Given the description of an element on the screen output the (x, y) to click on. 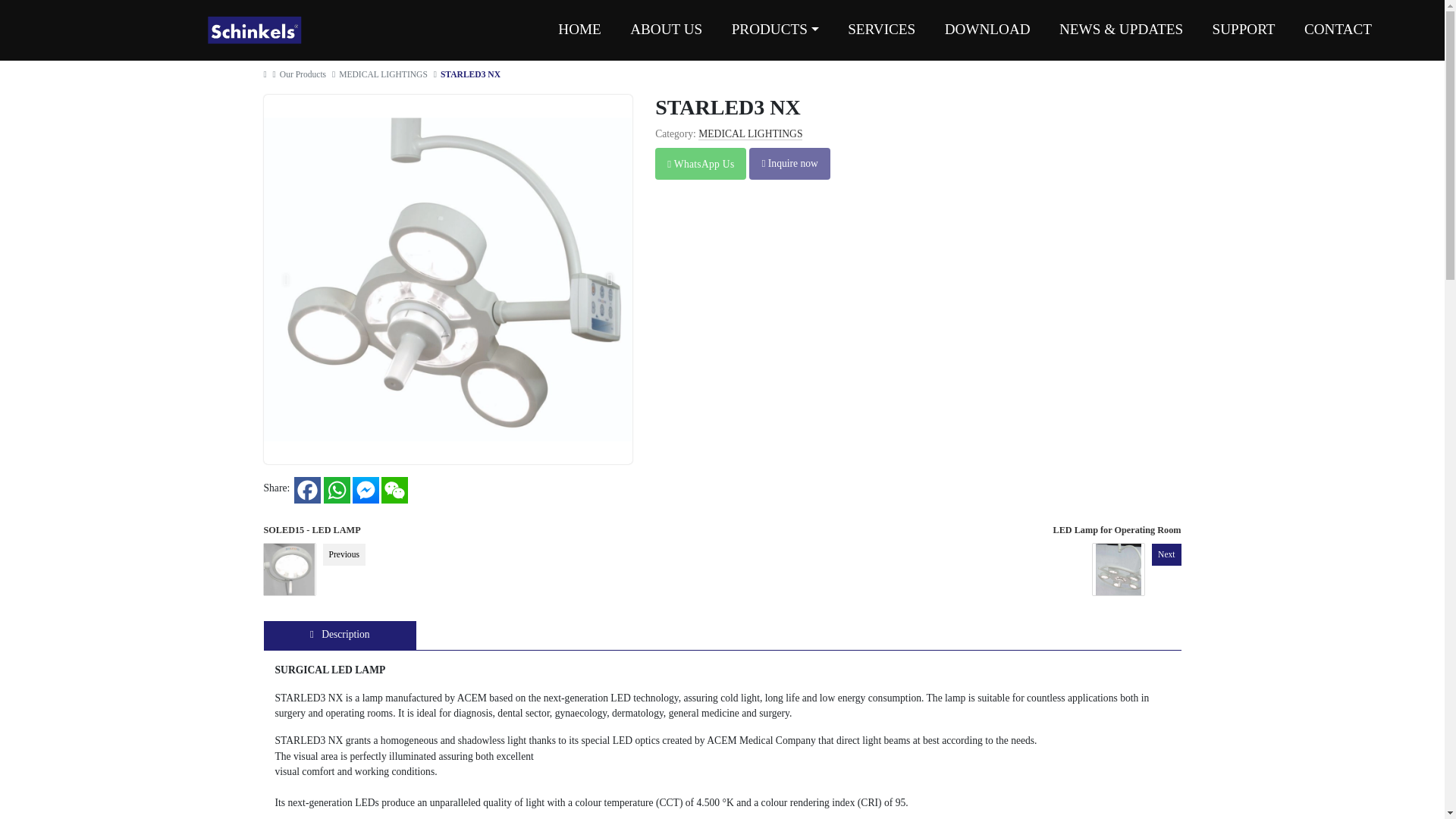
CONTACT (1338, 28)
DOWNLOAD (986, 28)
Support (1242, 28)
Home (579, 28)
Products (774, 28)
SCHINKELS SDN BHD (254, 30)
Services (881, 28)
SERVICES (881, 28)
PRODUCTS (774, 28)
Inquire now (789, 163)
